Given the description of an element on the screen output the (x, y) to click on. 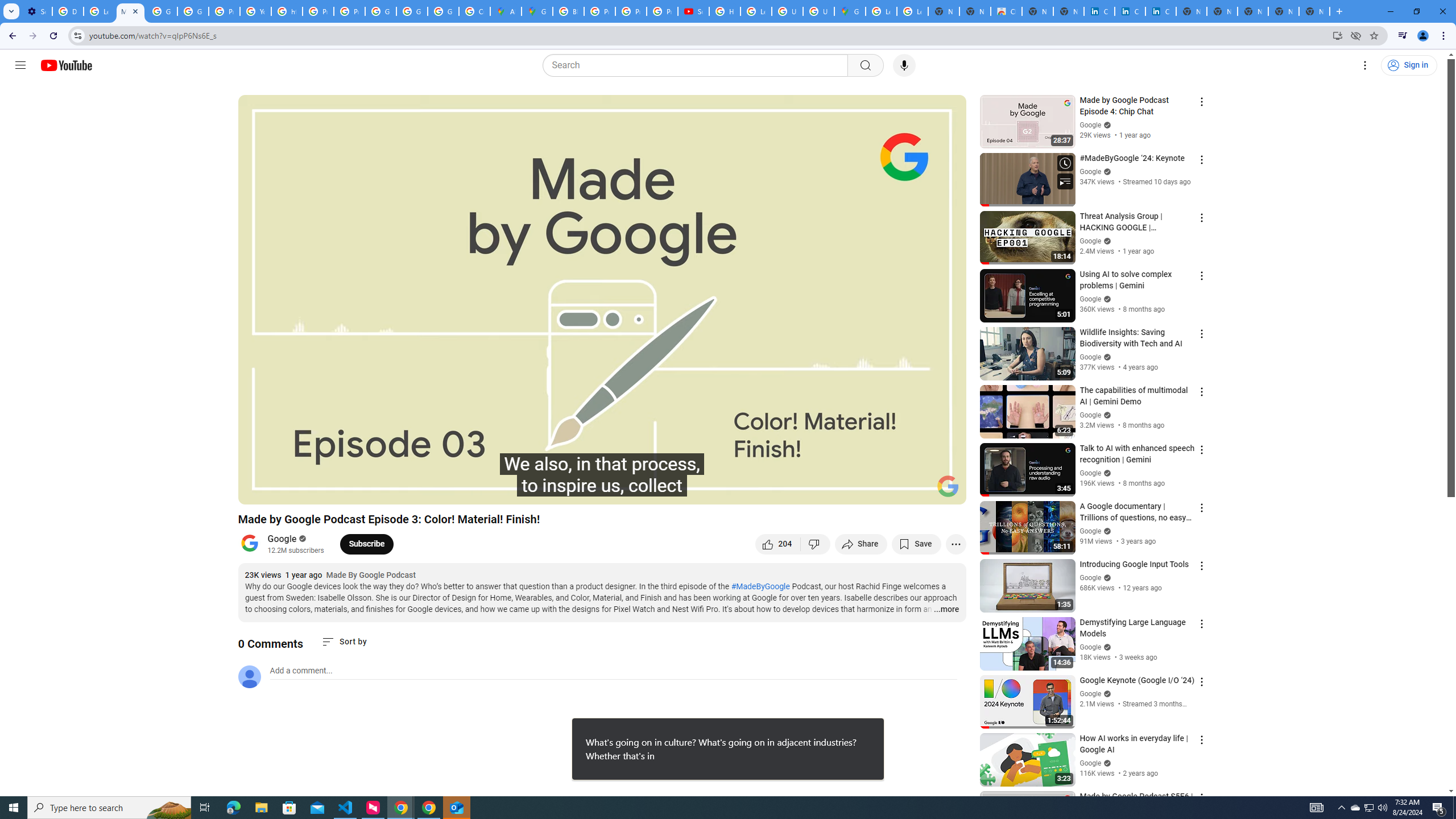
Full screen (f) (945, 490)
Google Account Help (161, 11)
Pause (k) (257, 490)
Google Maps (536, 11)
Seek slider (601, 476)
Next (SHIFT+n) (284, 490)
More actions (955, 543)
Dislike this video (815, 543)
Chrome Web Store (1005, 11)
